Given the description of an element on the screen output the (x, y) to click on. 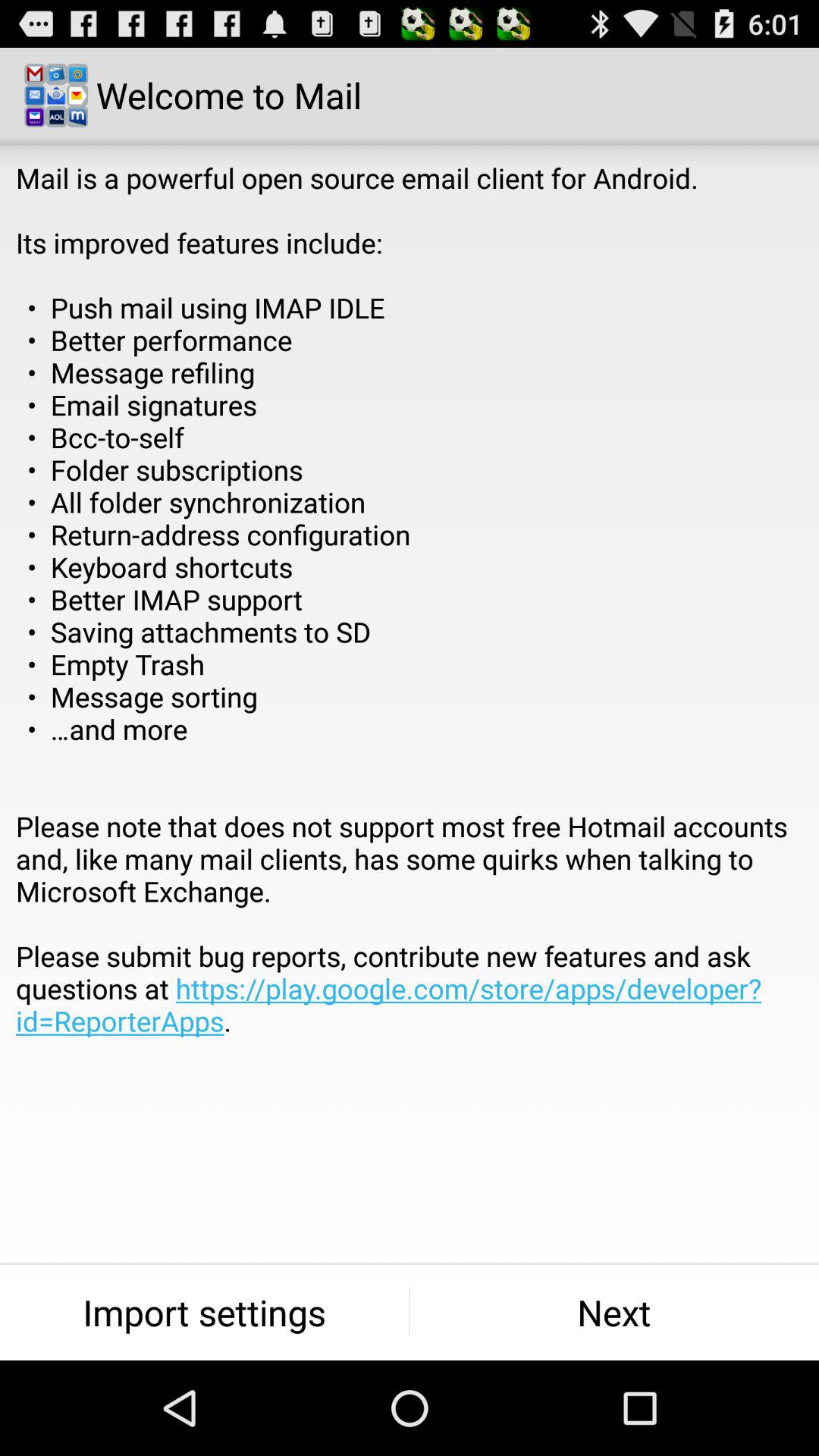
press import settings (204, 1312)
